Given the description of an element on the screen output the (x, y) to click on. 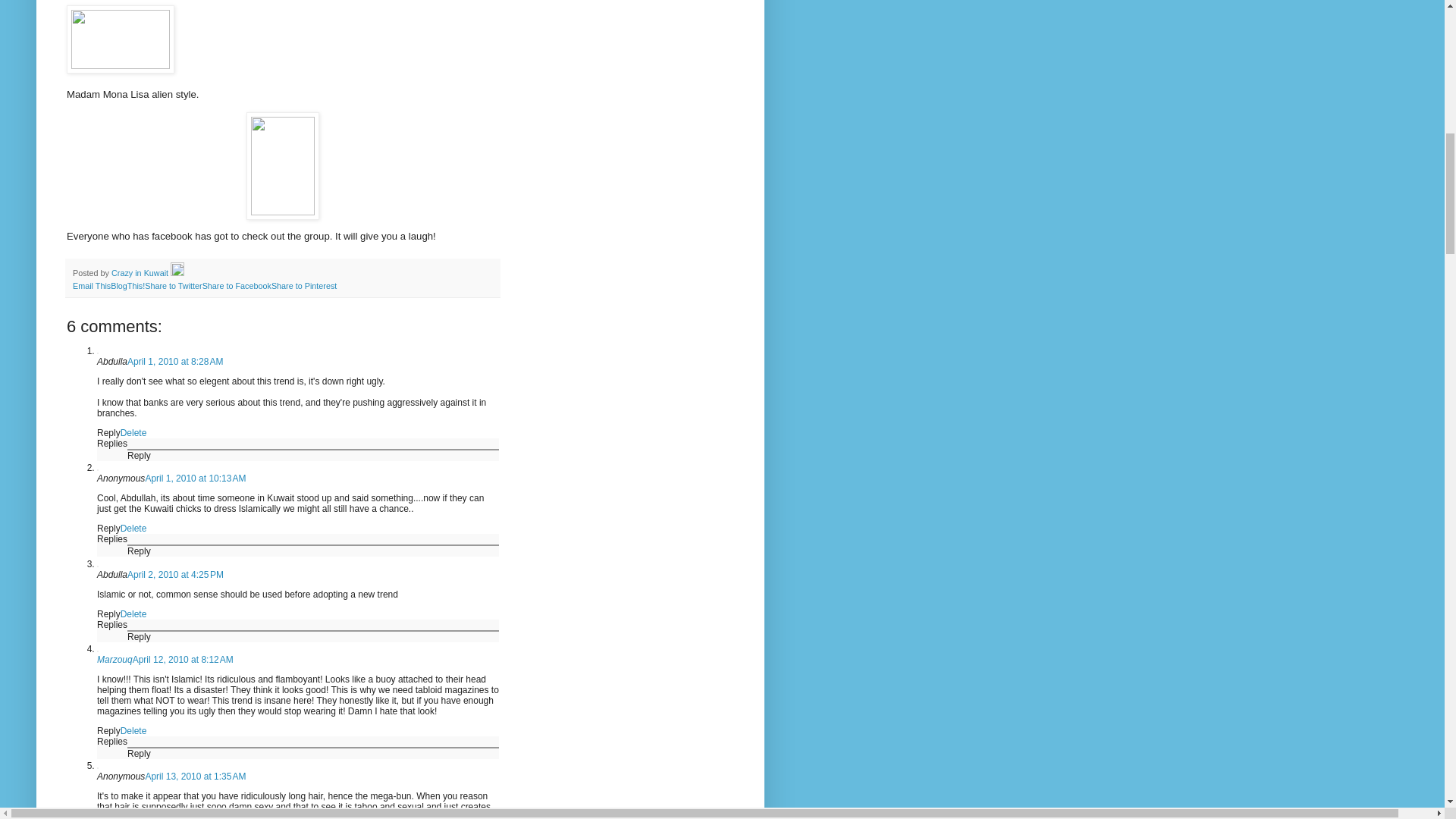
Share to Twitter (173, 285)
Delete (133, 432)
Reply (139, 636)
Reply (108, 730)
Replies (112, 443)
Share to Twitter (173, 285)
Crazy in Kuwait (141, 272)
Reply (108, 432)
Email This (91, 285)
author profile (141, 272)
Replies (112, 624)
Delete (133, 730)
